Given the description of an element on the screen output the (x, y) to click on. 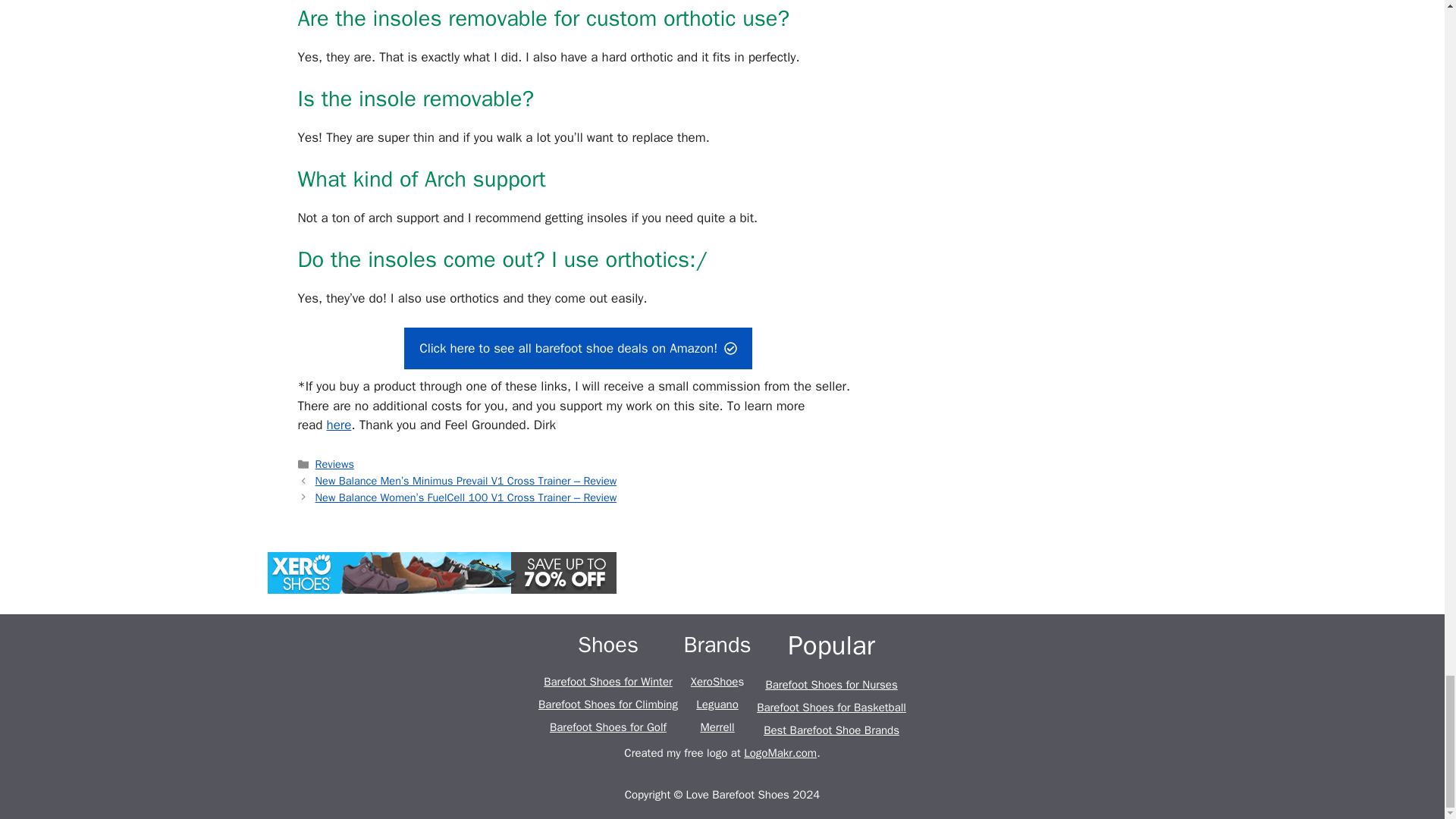
Xero Shoe Fall Banner (440, 572)
